Given the description of an element on the screen output the (x, y) to click on. 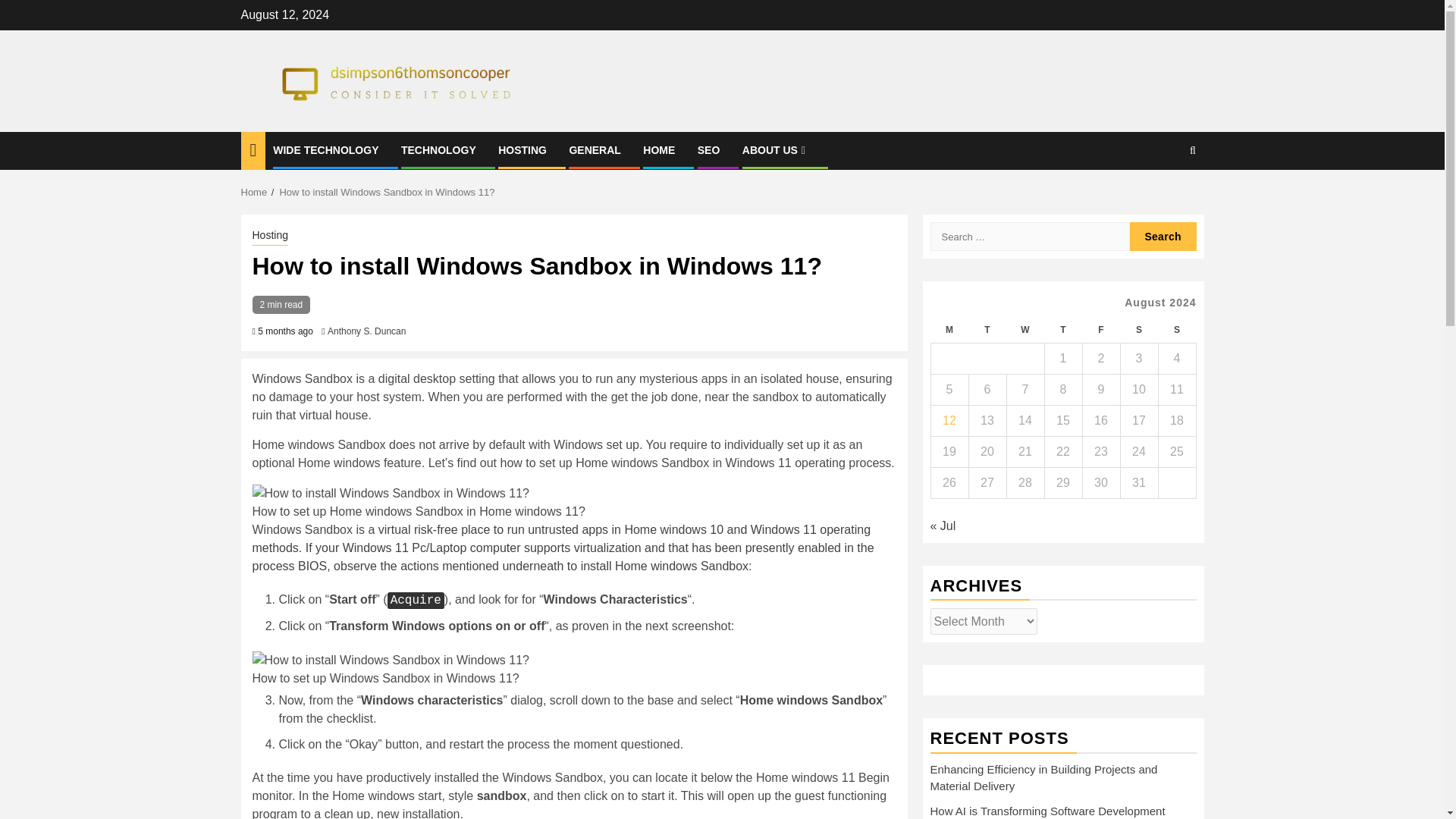
Thursday (1062, 329)
Hosting (268, 236)
ABOUT US (775, 150)
How to install Windows Sandbox in Windows 11? (387, 192)
Monday (949, 329)
Anthony S. Duncan (366, 330)
How to install Windows Sandbox in Windows 11? (390, 493)
How to install Windows Sandbox in Windows 11? (390, 660)
TECHNOLOGY (438, 150)
